Given the description of an element on the screen output the (x, y) to click on. 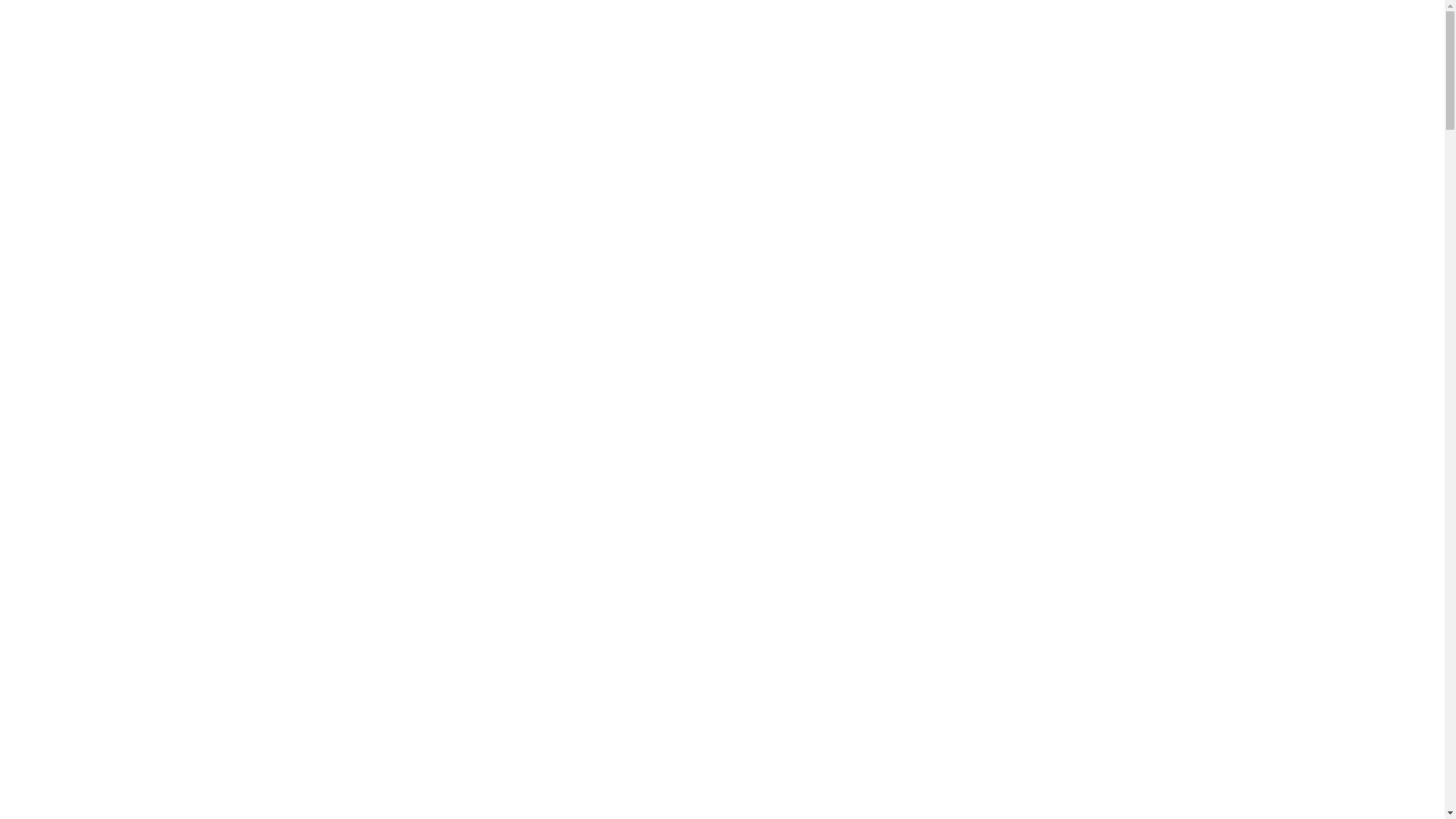
New Development Element type: text (160, 21)
Language Element type: text (1369, 25)
Buy Element type: text (91, 21)
Rent Element type: text (57, 21)
Manage Element type: text (269, 21)
Skip to content Element type: text (0, 0)
Sell Element type: text (227, 21)
